Given the description of an element on the screen output the (x, y) to click on. 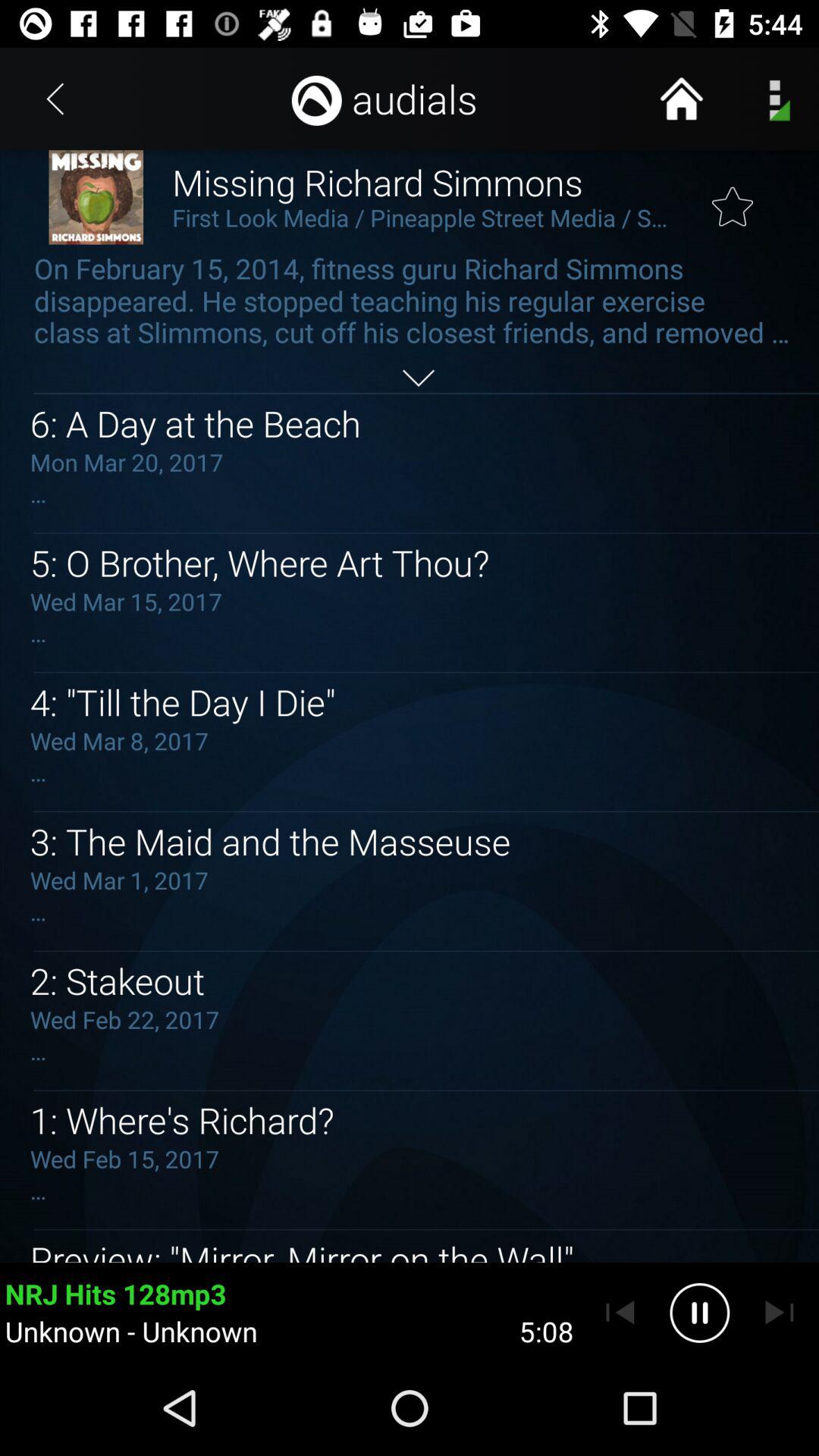
home (681, 98)
